Given the description of an element on the screen output the (x, y) to click on. 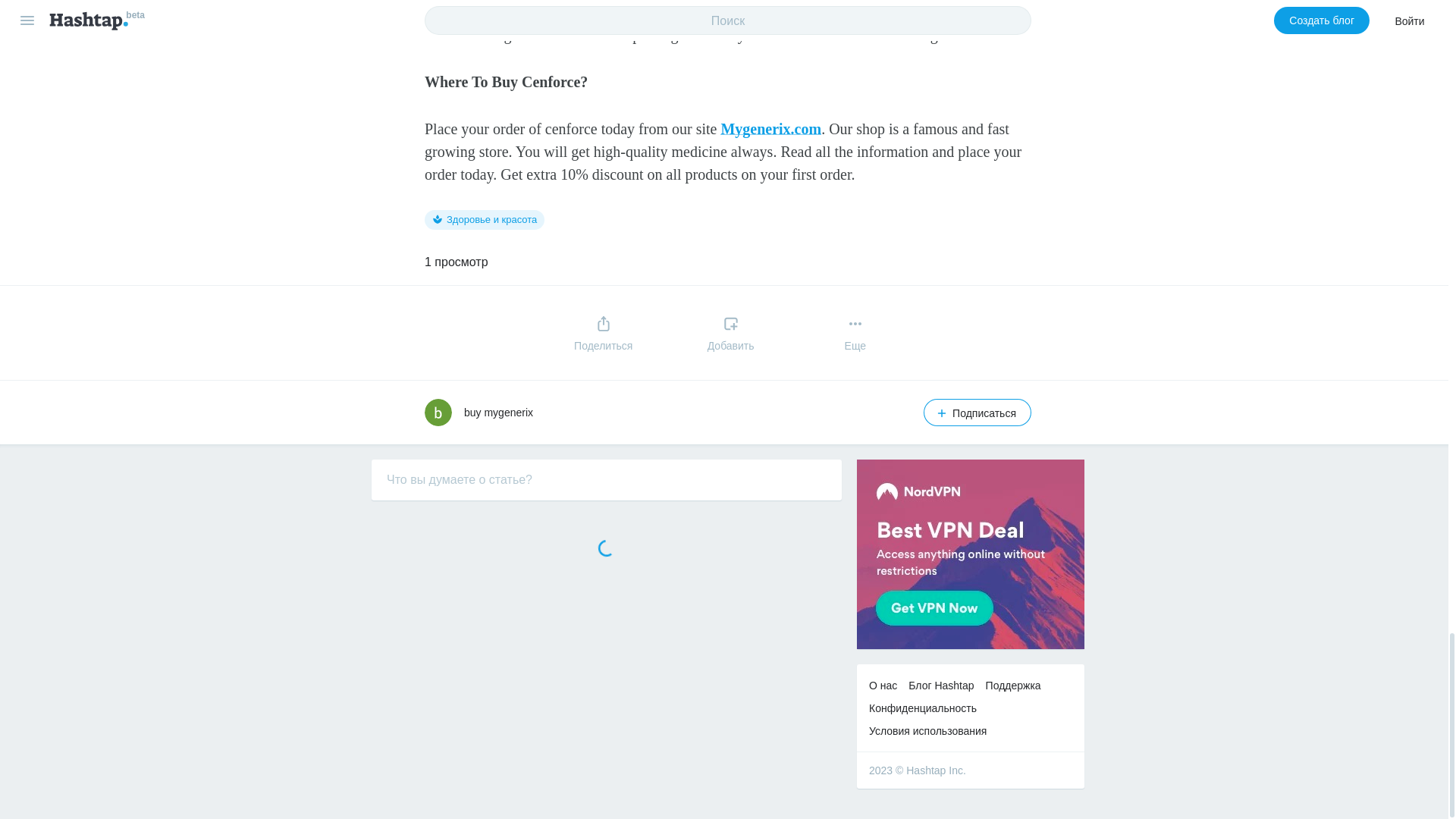
Mygenerix.com (283, 367)
